Given the description of an element on the screen output the (x, y) to click on. 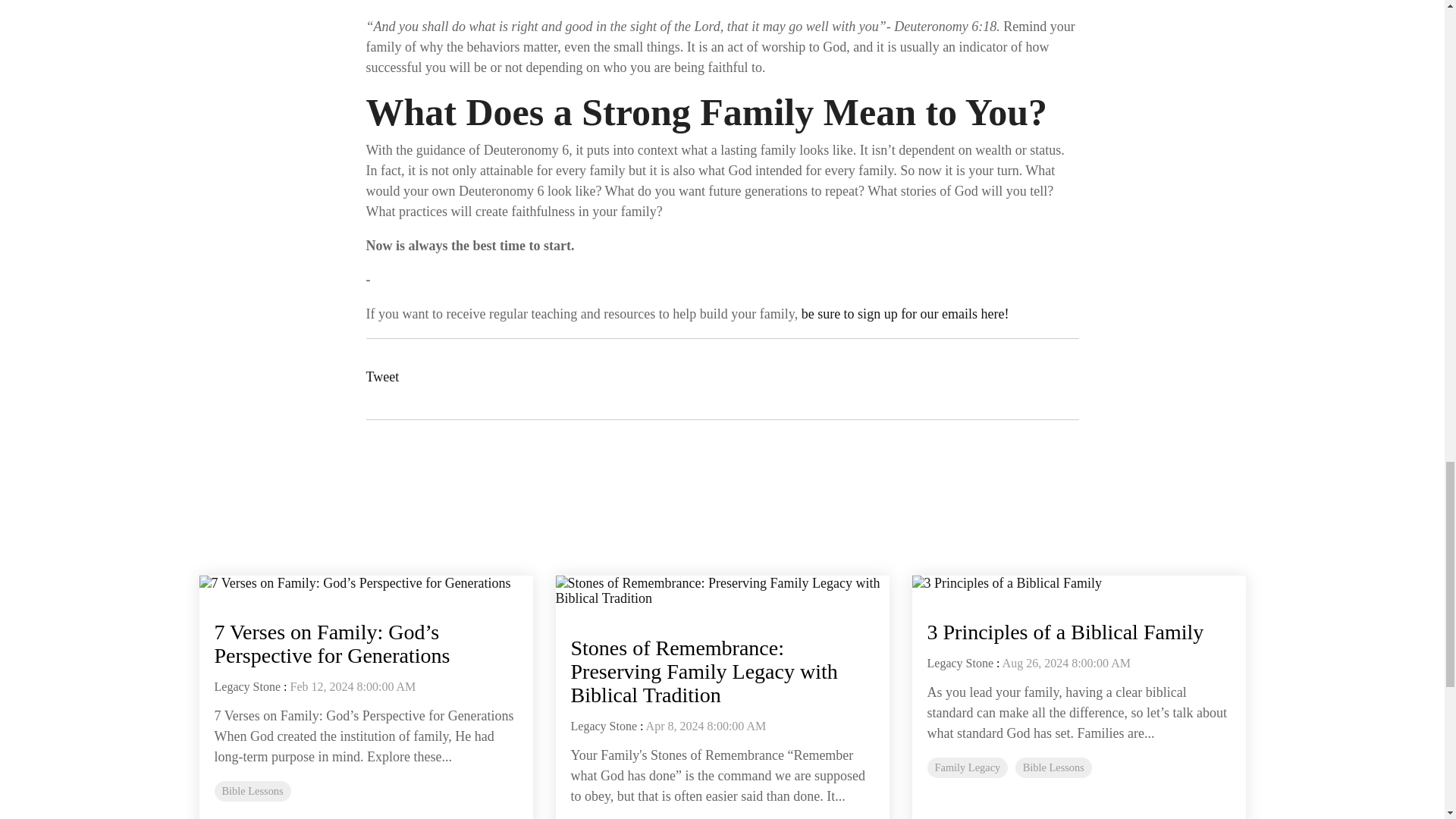
Legacy Stone (247, 686)
be sure to sign up for our emails here! (905, 313)
Tweet (381, 376)
Bible Lessons (251, 791)
Legacy Stone (603, 725)
